Given the description of an element on the screen output the (x, y) to click on. 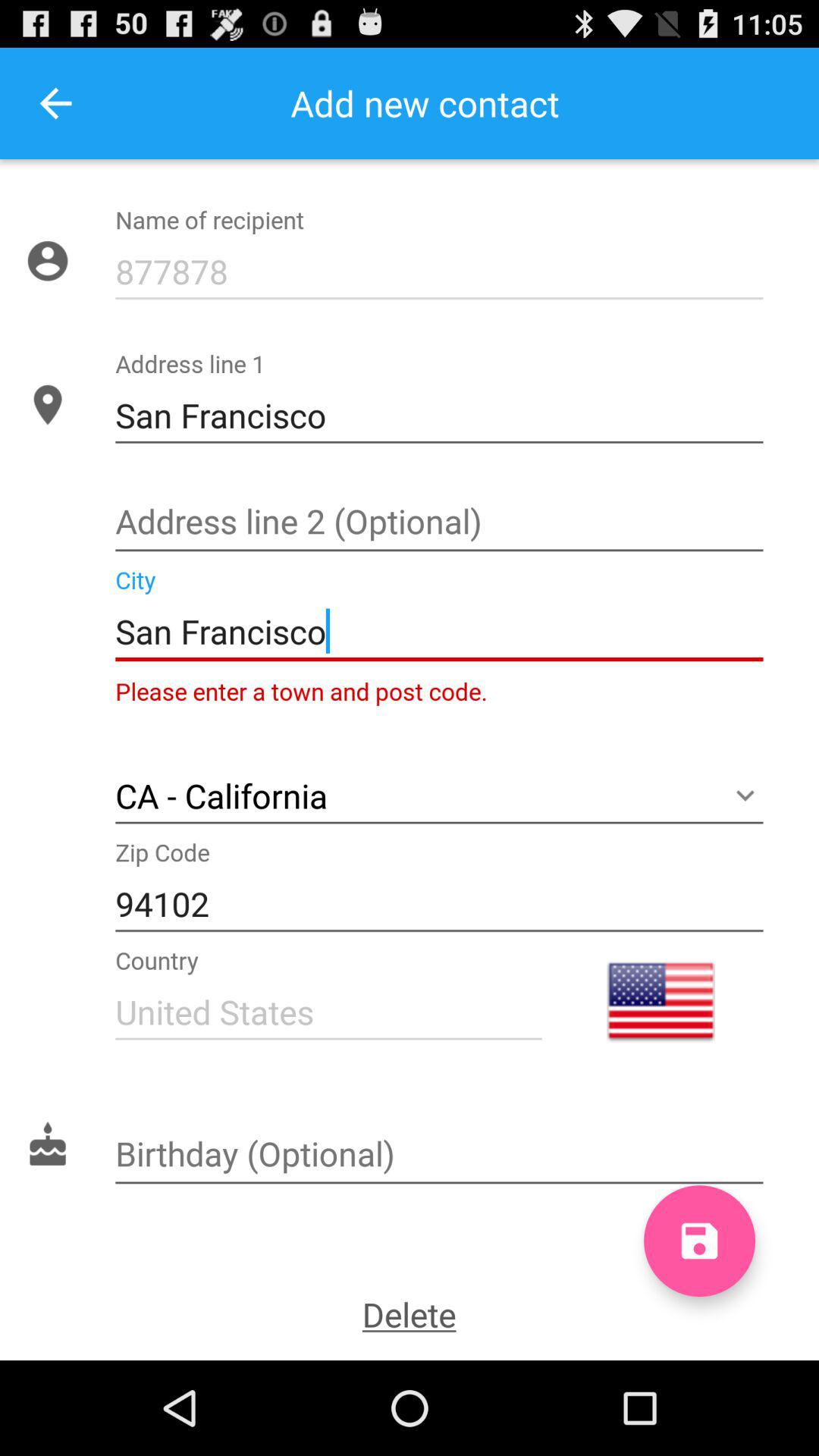
enter your birthday (439, 1156)
